Given the description of an element on the screen output the (x, y) to click on. 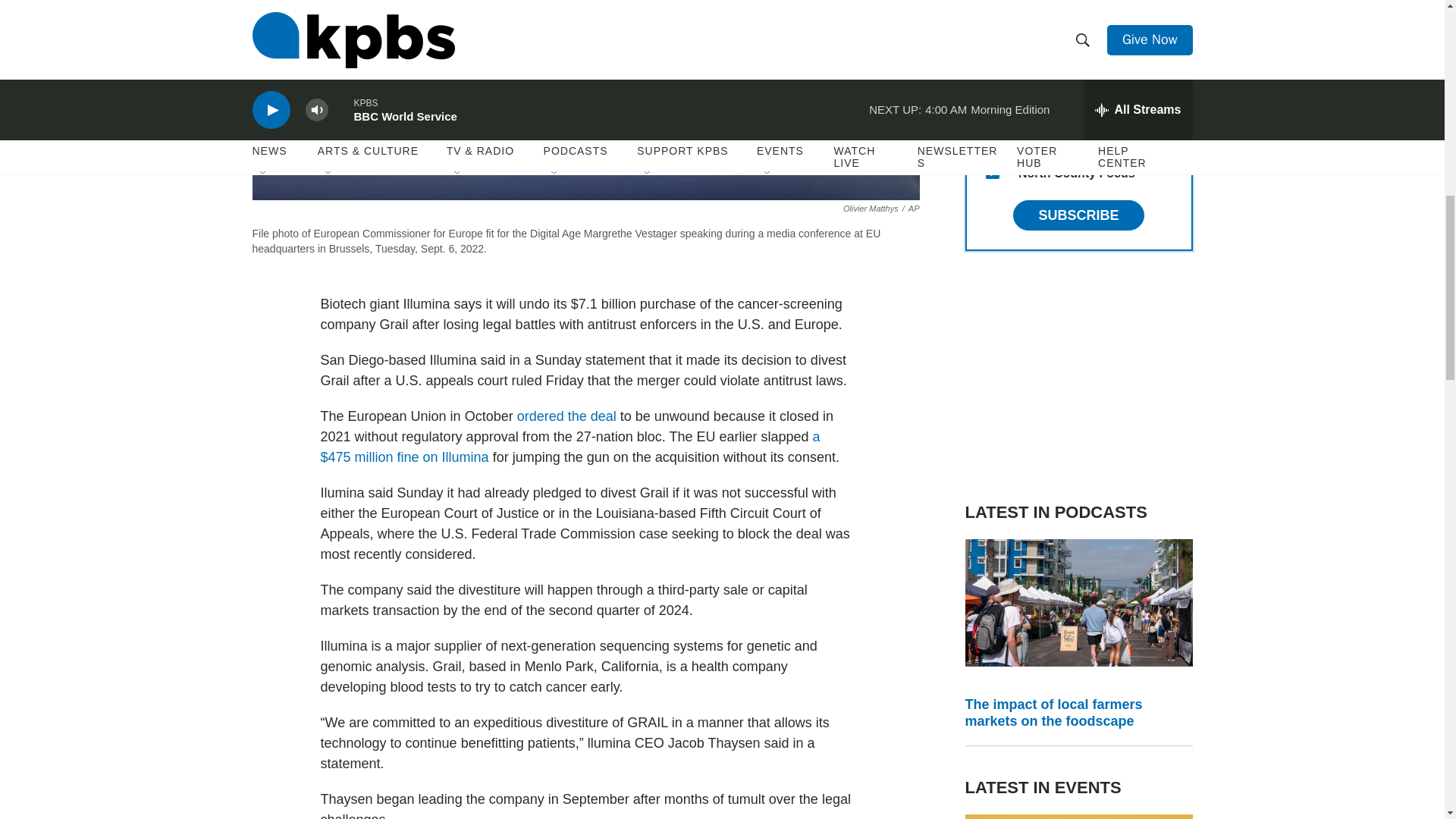
2 (991, 62)
8 (991, 135)
1 (991, 99)
15 (991, 172)
6 (991, 26)
